Given the description of an element on the screen output the (x, y) to click on. 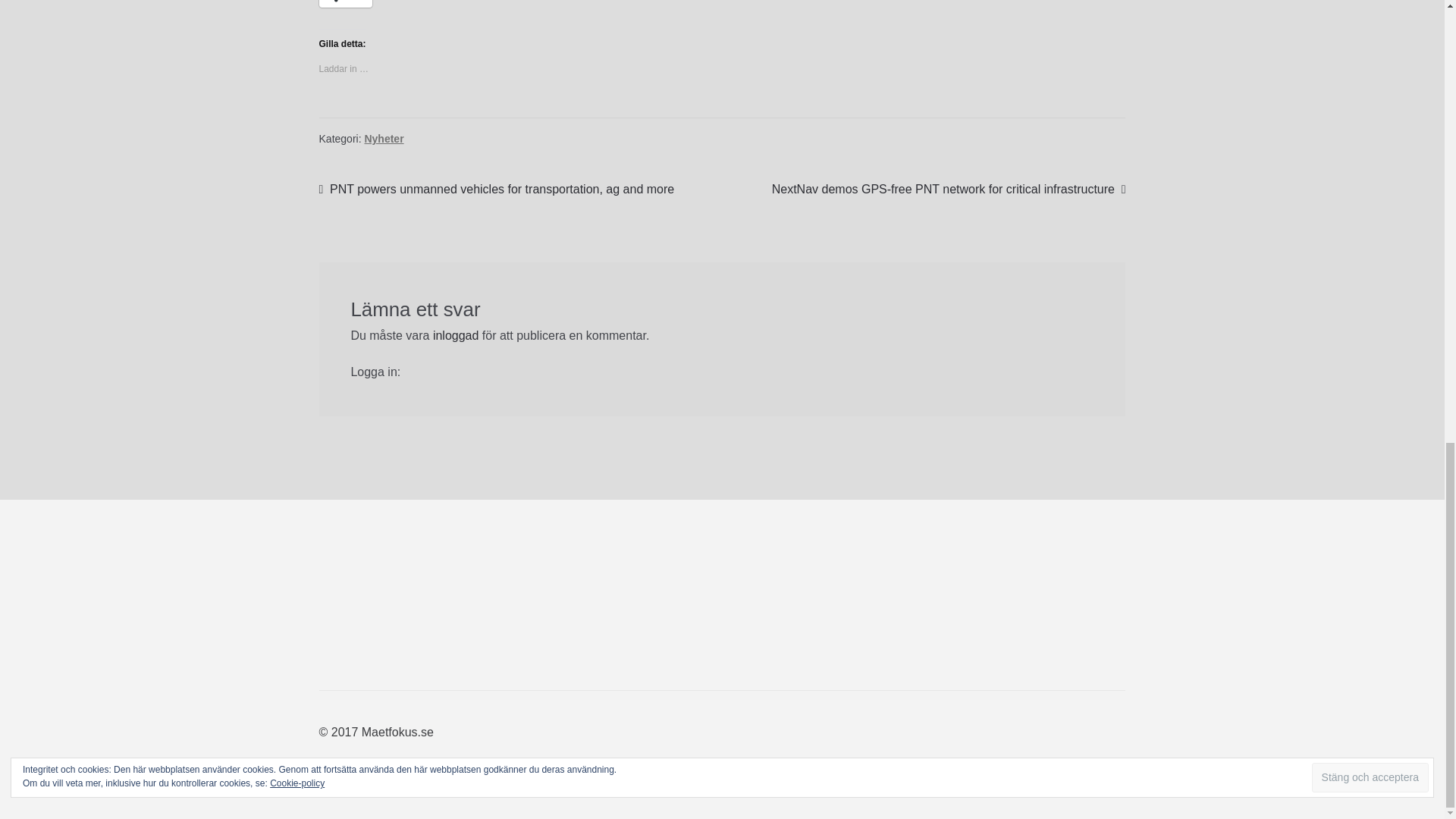
Nyheter (383, 138)
Dela (345, 3)
inloggad (455, 335)
